Given the description of an element on the screen output the (x, y) to click on. 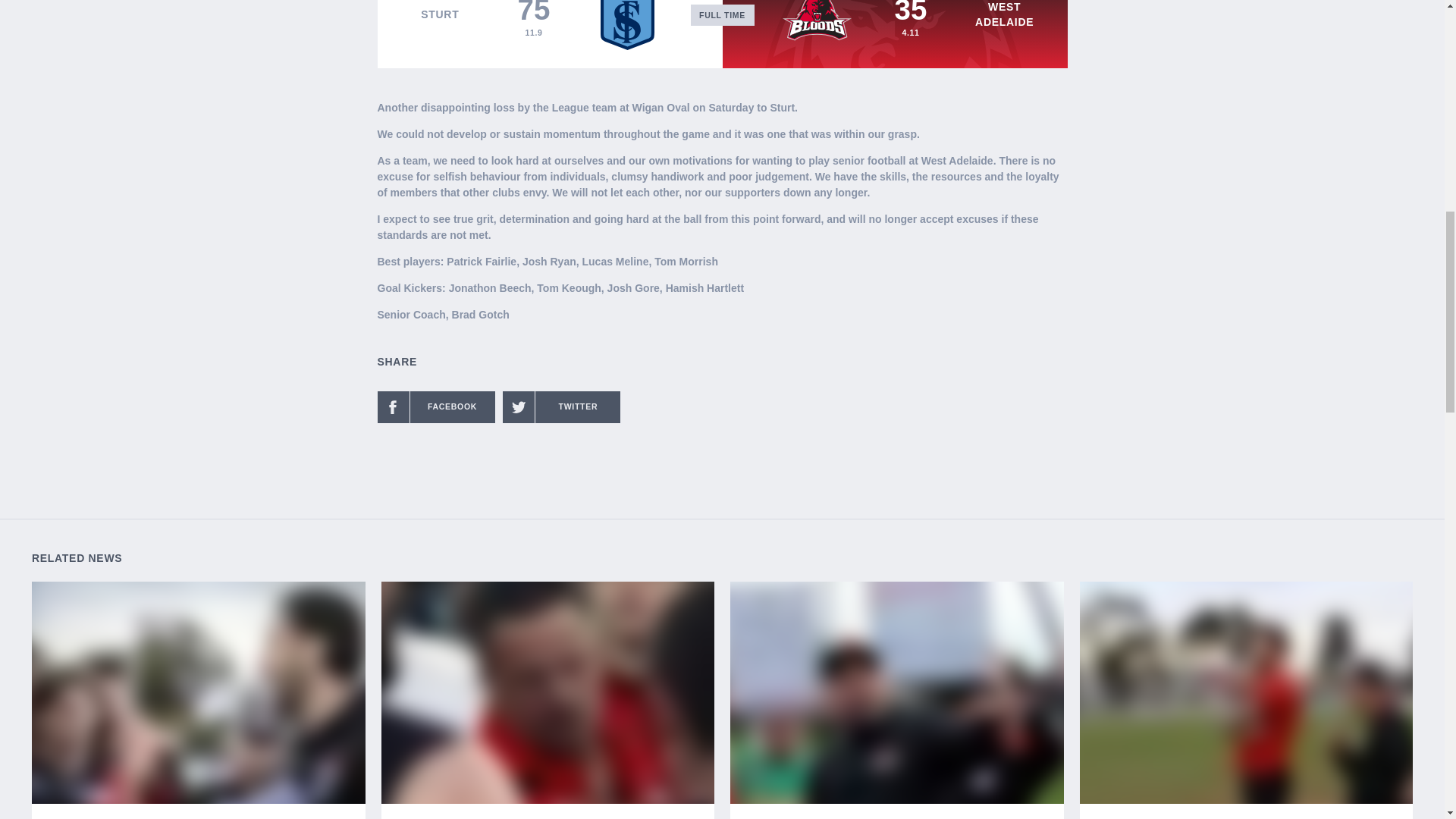
FACEBOOK (436, 407)
TWITTER (561, 407)
Share this article on Twitter (561, 407)
Share this article on Facebook (436, 407)
